Given the description of an element on the screen output the (x, y) to click on. 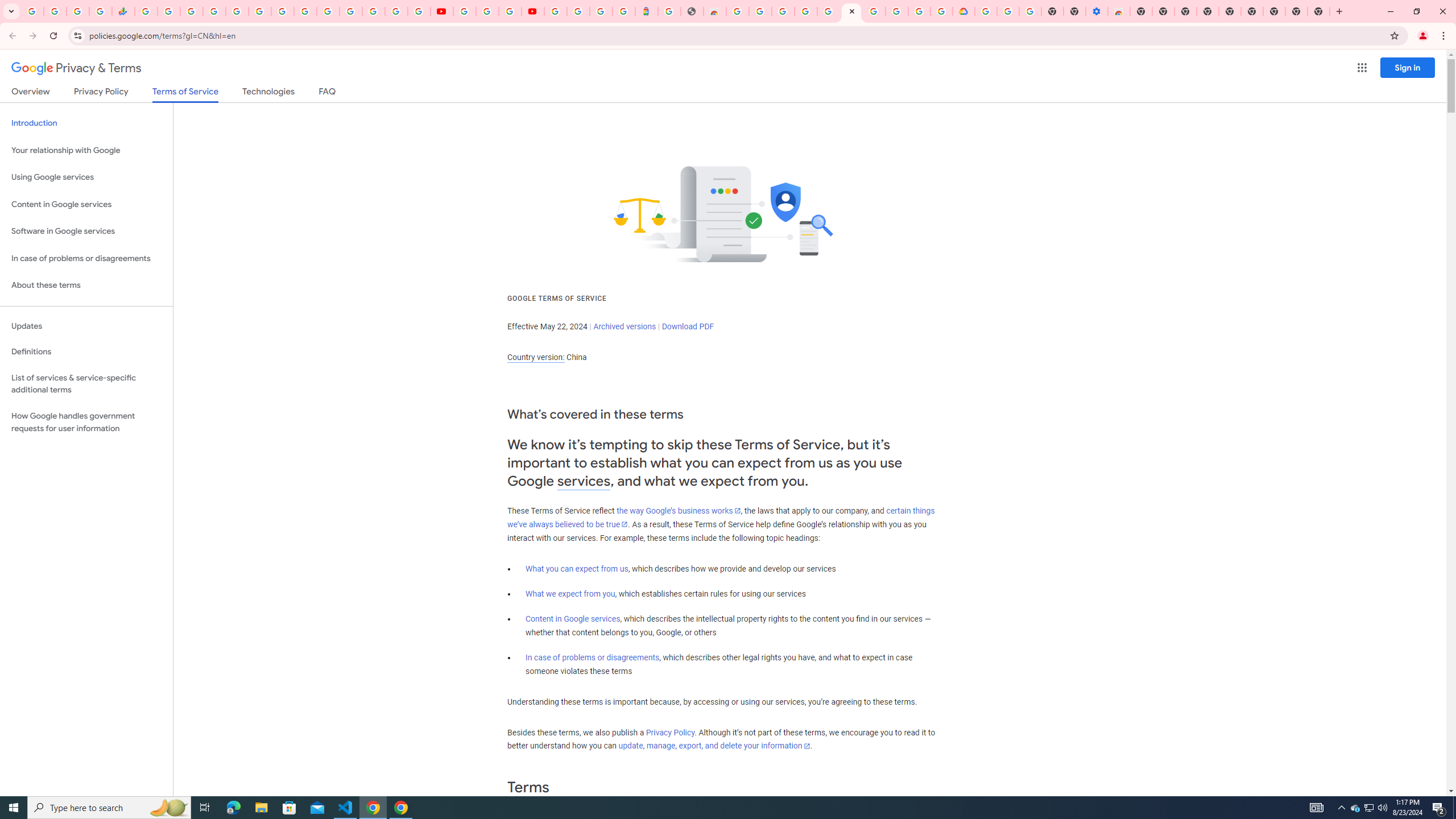
What we expect from you (570, 593)
Country version: (535, 357)
YouTube (464, 11)
YouTube (304, 11)
Google Account Help (1008, 11)
New Tab (1319, 11)
